Given the description of an element on the screen output the (x, y) to click on. 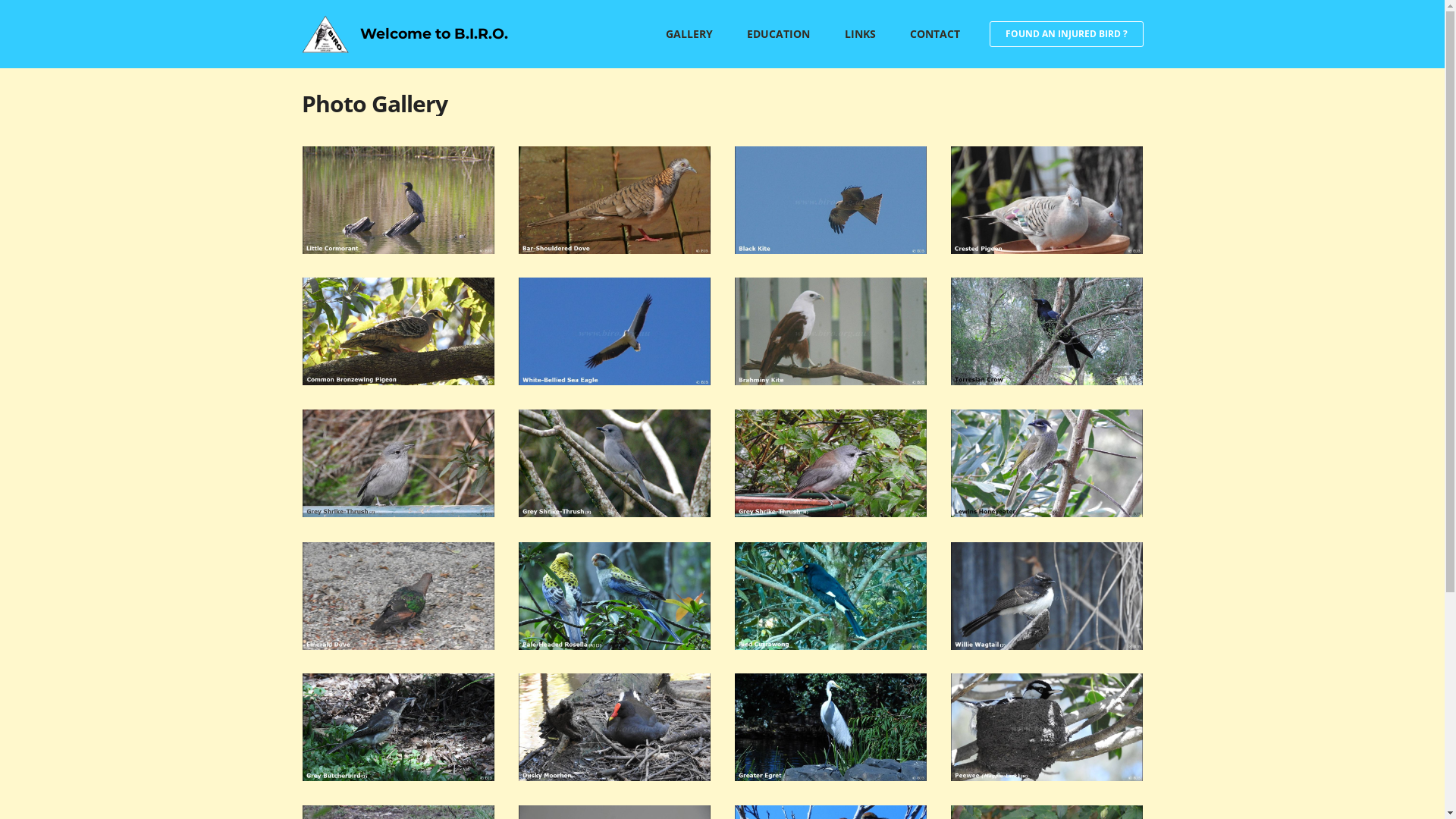
BIRO Logo Element type: hover (326, 34)
Welcome to B.I.R.O. Element type: text (434, 34)
EDUCATION Element type: text (777, 33)
LINKS Element type: text (859, 33)
CONTACT Element type: text (935, 33)
GALLERY Element type: text (688, 33)
FOUND AN INJURED BIRD ? Element type: text (1065, 34)
